Given the description of an element on the screen output the (x, y) to click on. 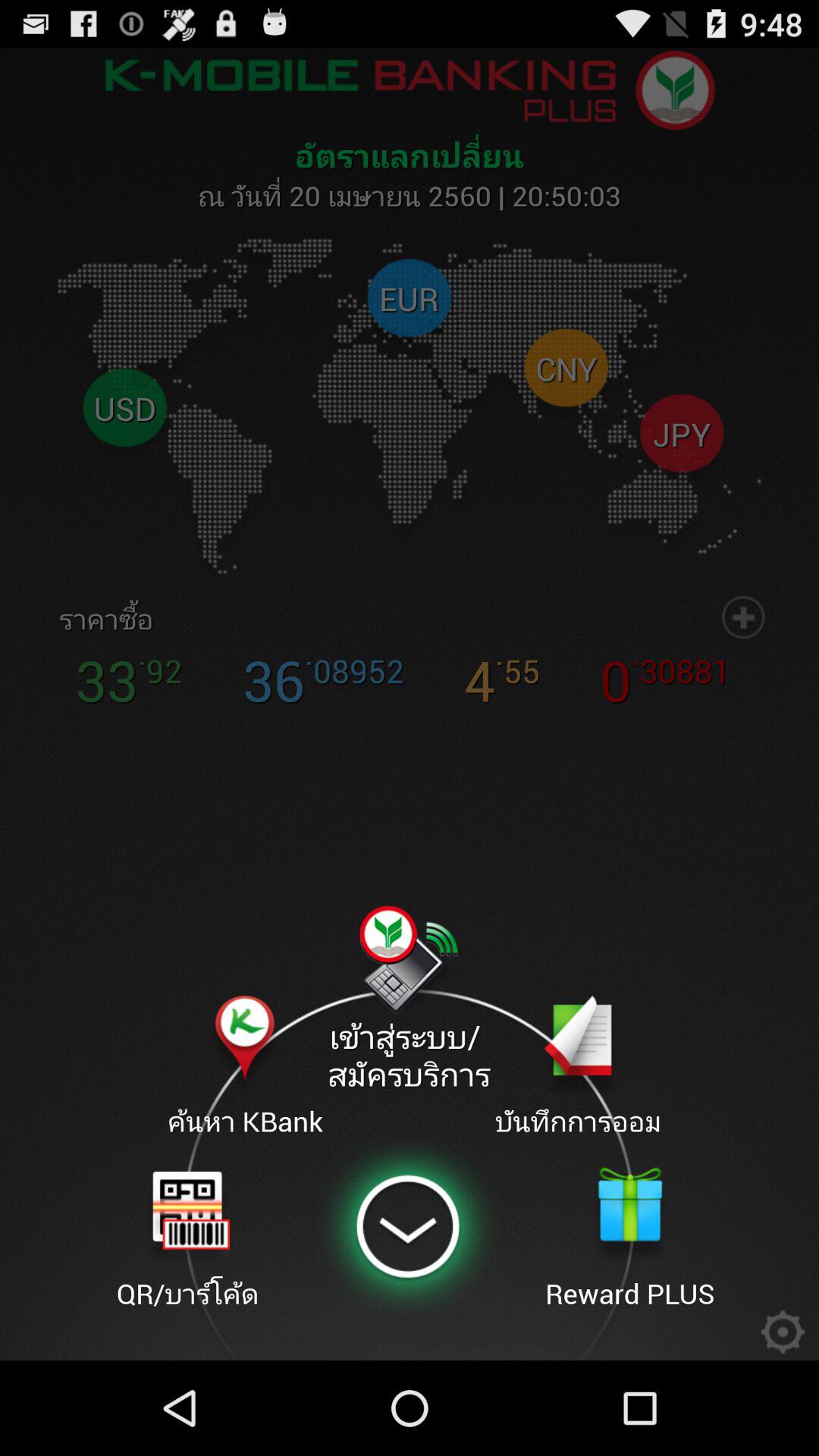
open the item below the 36 item (408, 1000)
